Given the description of an element on the screen output the (x, y) to click on. 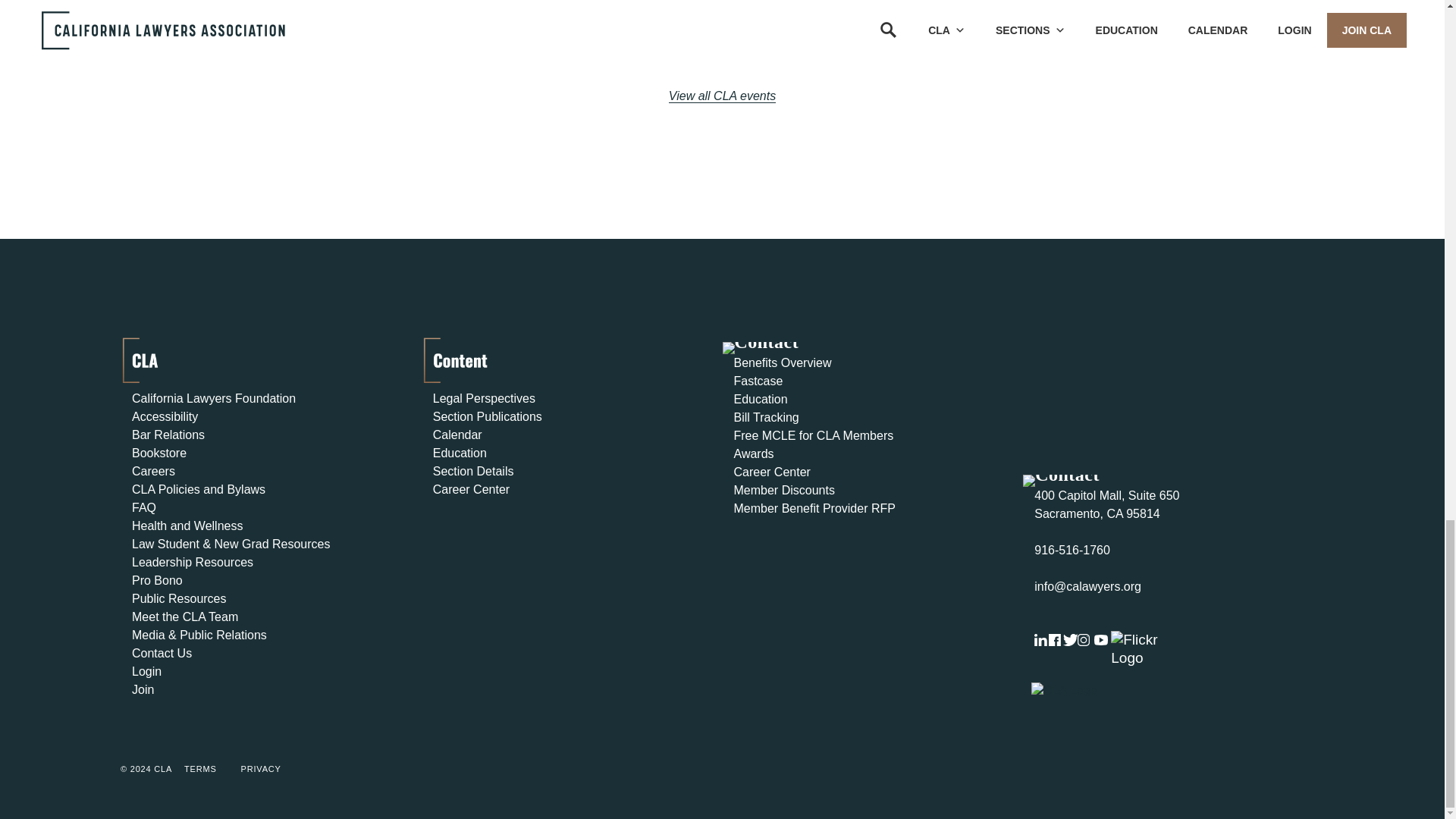
Flickr (1148, 648)
